Given the description of an element on the screen output the (x, y) to click on. 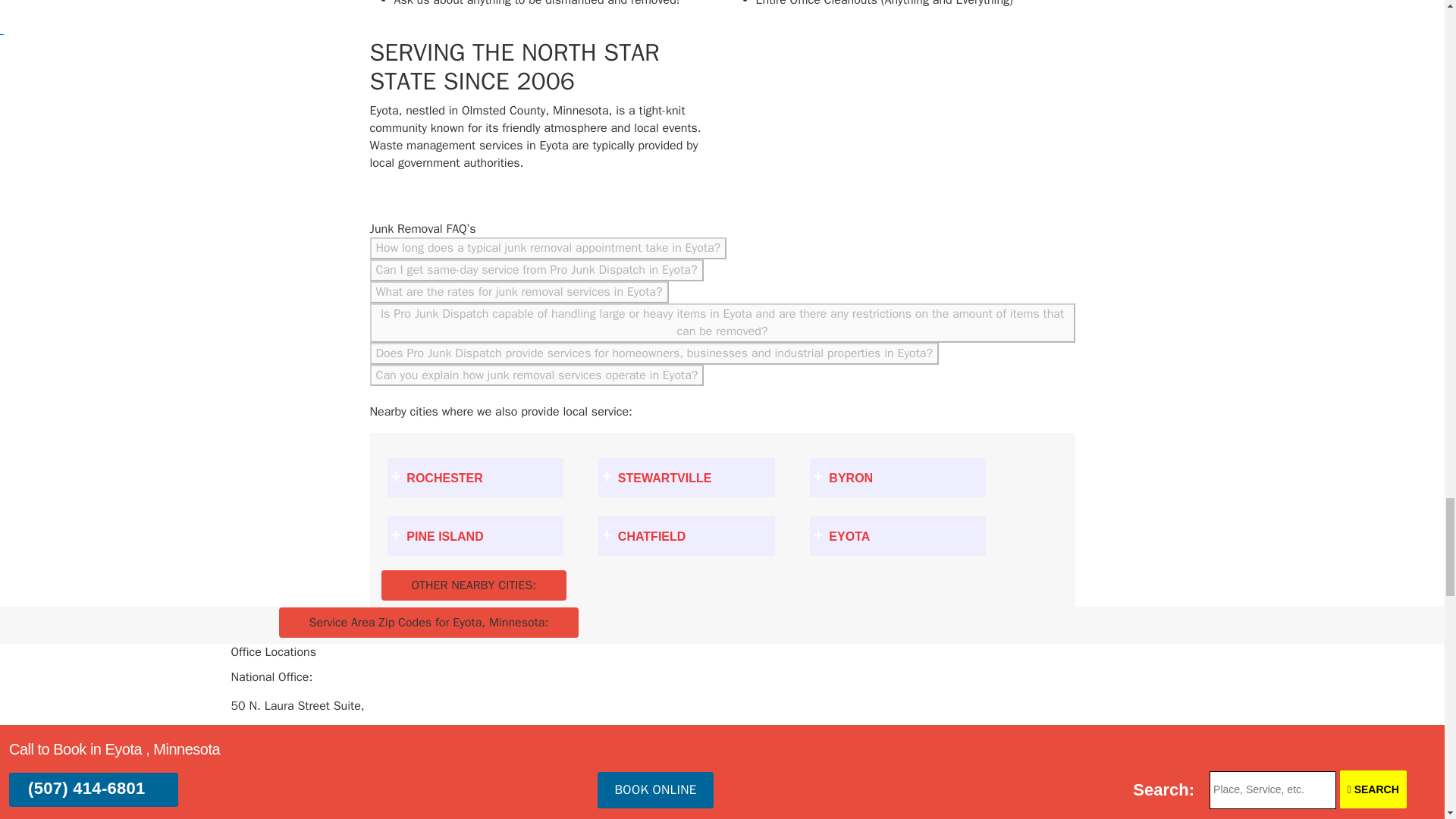
Olmsted County, MN - T233 - Rochester (475, 477)
Goodhue County, MN - T233 - Pine Island (475, 536)
Fillmore County, MN - T233 - Chatfield (686, 536)
Can I get same-day service from Pro Junk Dispatch in Eyota? (536, 270)
Pro Junk Dispatch art drawing of State of Minnesota (852, 129)
Olmsted County, MN - T233 - Byron (898, 477)
Olmsted County, MN - T233 - Stewartville (686, 477)
Olmsted County, MN - T233 - Eyota (898, 536)
